Given the description of an element on the screen output the (x, y) to click on. 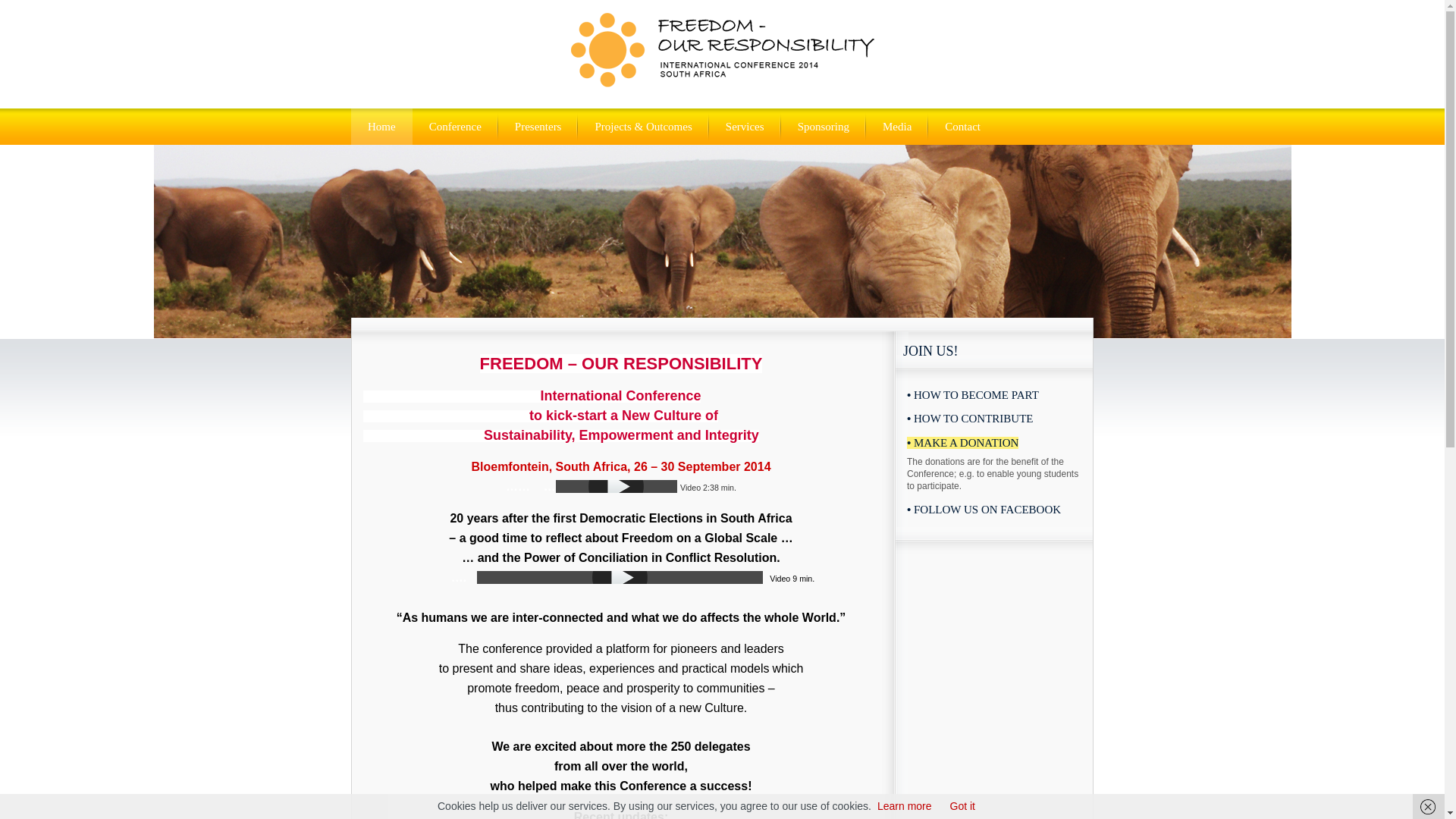
Home (381, 126)
zafor (721, 79)
Presenters (537, 126)
Services (744, 126)
Conference (454, 126)
